Given the description of an element on the screen output the (x, y) to click on. 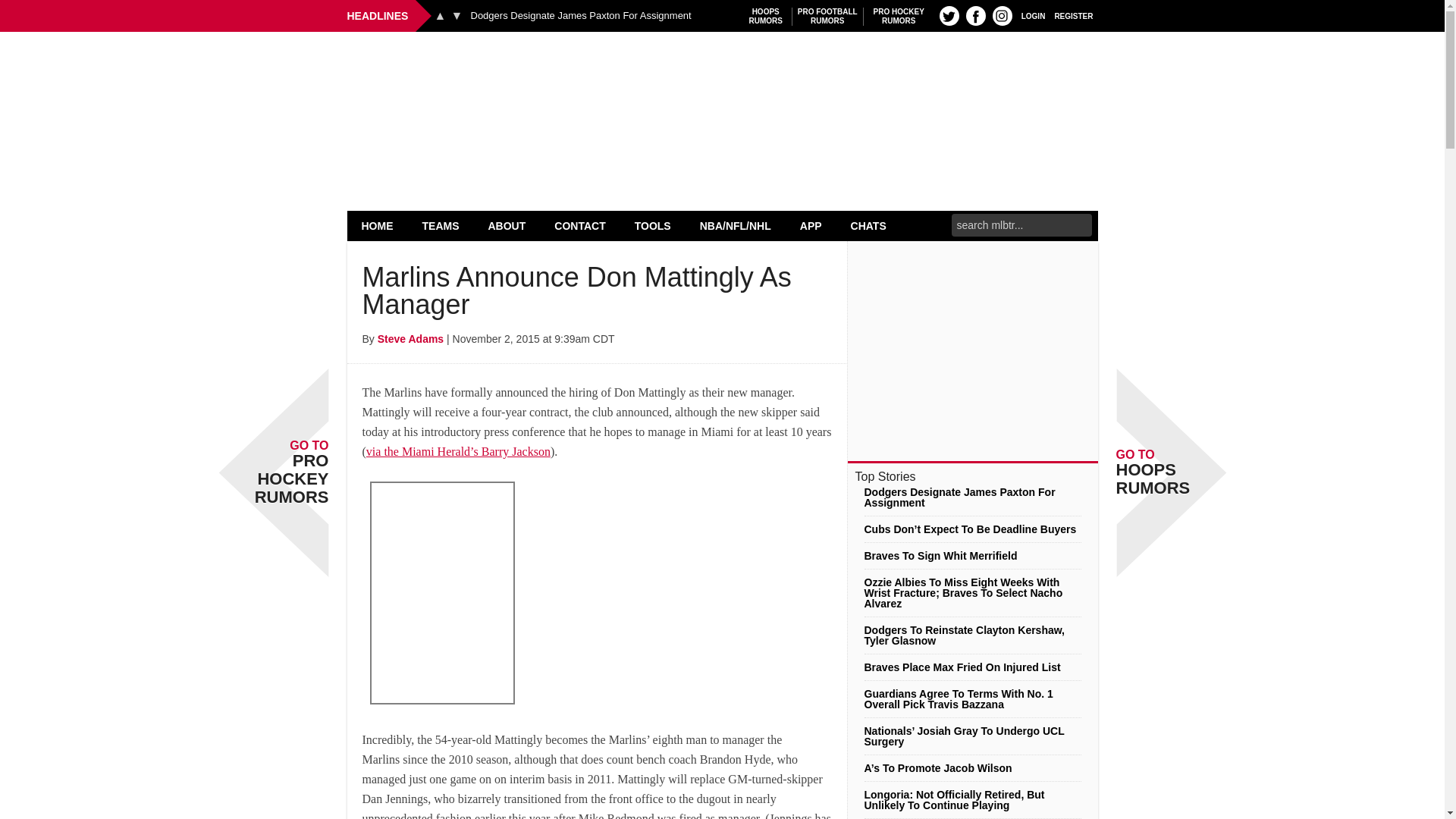
TEAMS (440, 225)
Next (456, 15)
Dodgers Designate James Paxton For Assignment (580, 15)
Instagram profile (765, 16)
MLB Trade Rumors (1001, 15)
Twitter profile (722, 69)
Previous (949, 15)
FB profile (827, 16)
Search (439, 15)
HOME (975, 15)
REGISTER (377, 225)
